Given the description of an element on the screen output the (x, y) to click on. 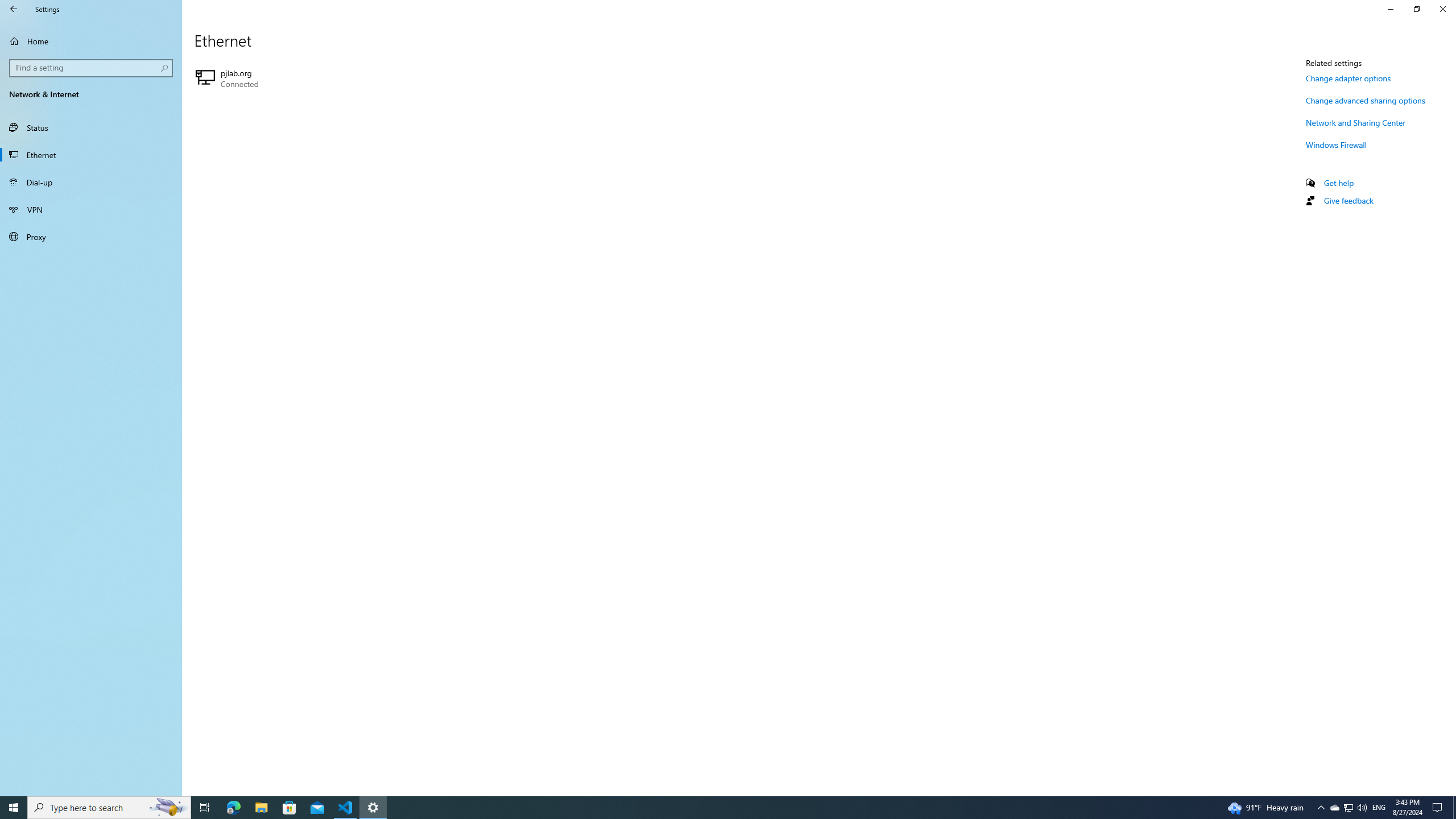
Give feedback (1348, 199)
Start (13, 807)
Ethernet (91, 154)
Close Settings (1442, 9)
Type here to search (1347, 807)
Status (108, 807)
Restore Settings (91, 126)
Action Center, No new notifications (1416, 9)
pjlab.org Connected (1439, 807)
Show desktop (319, 78)
File Explorer (1454, 807)
Home (261, 807)
Running applications (91, 40)
